Given the description of an element on the screen output the (x, y) to click on. 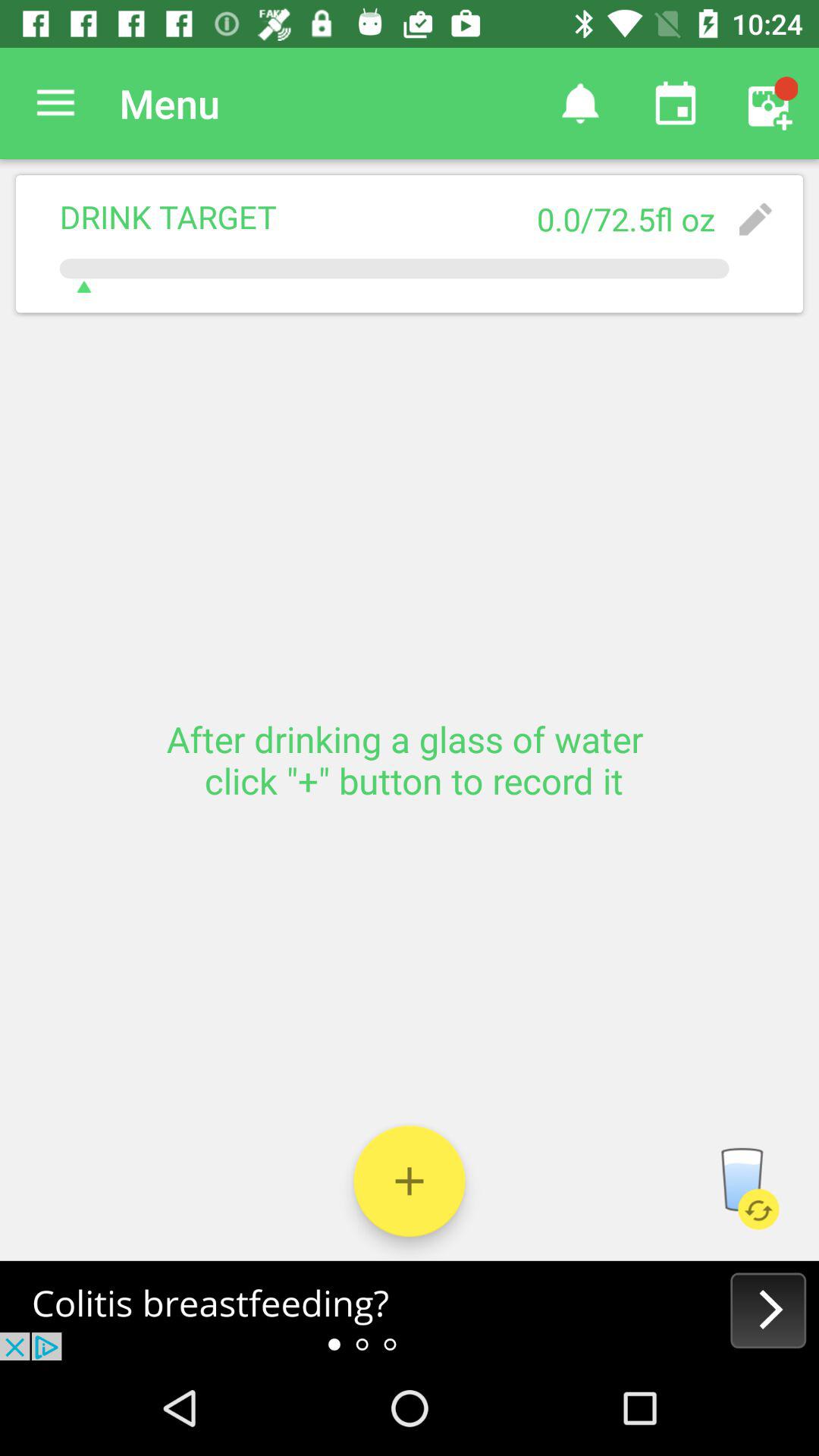
menu option (55, 103)
